Given the description of an element on the screen output the (x, y) to click on. 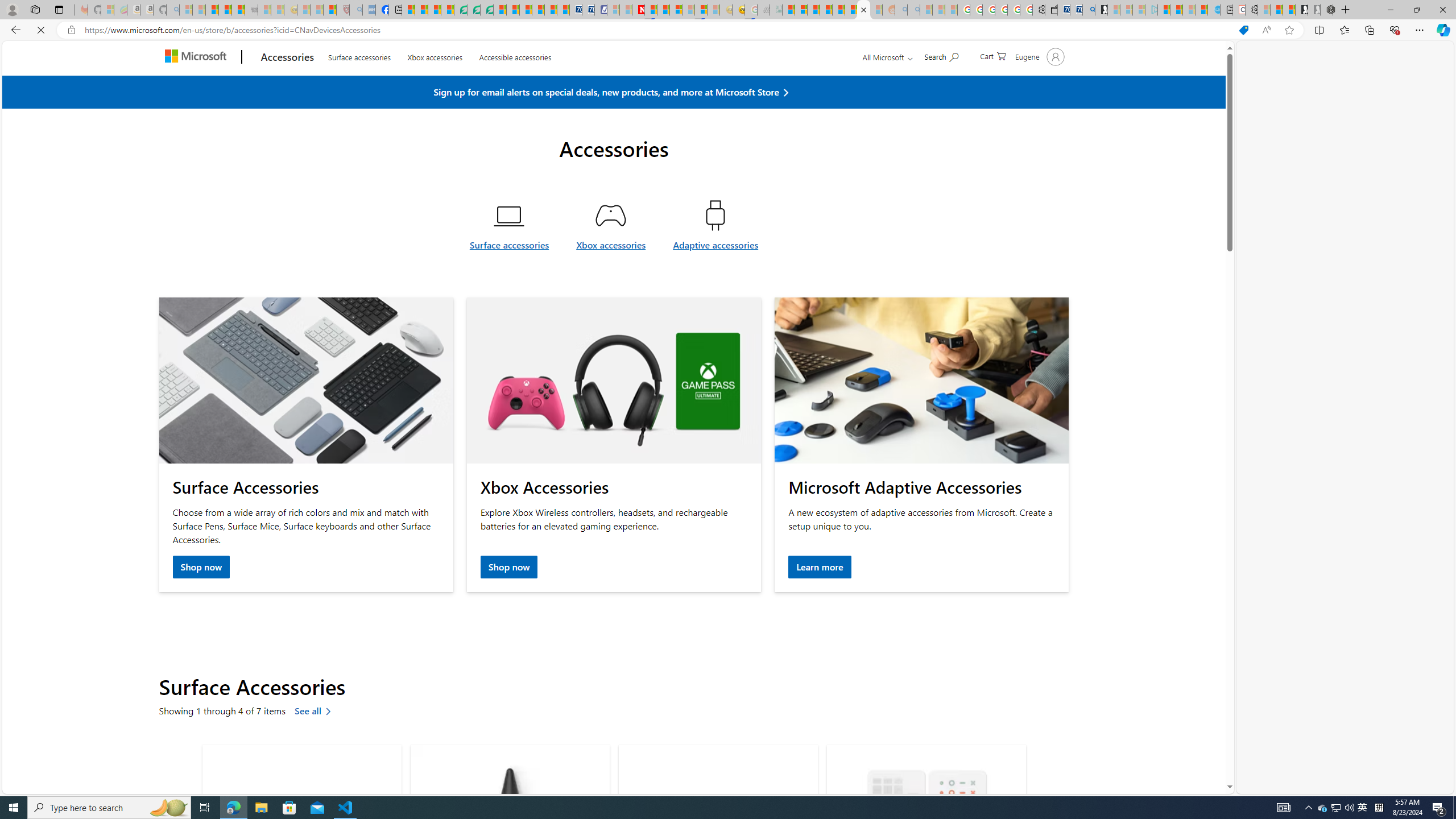
Accessible accessories (515, 81)
Xbox accessories (611, 251)
